Given the description of an element on the screen output the (x, y) to click on. 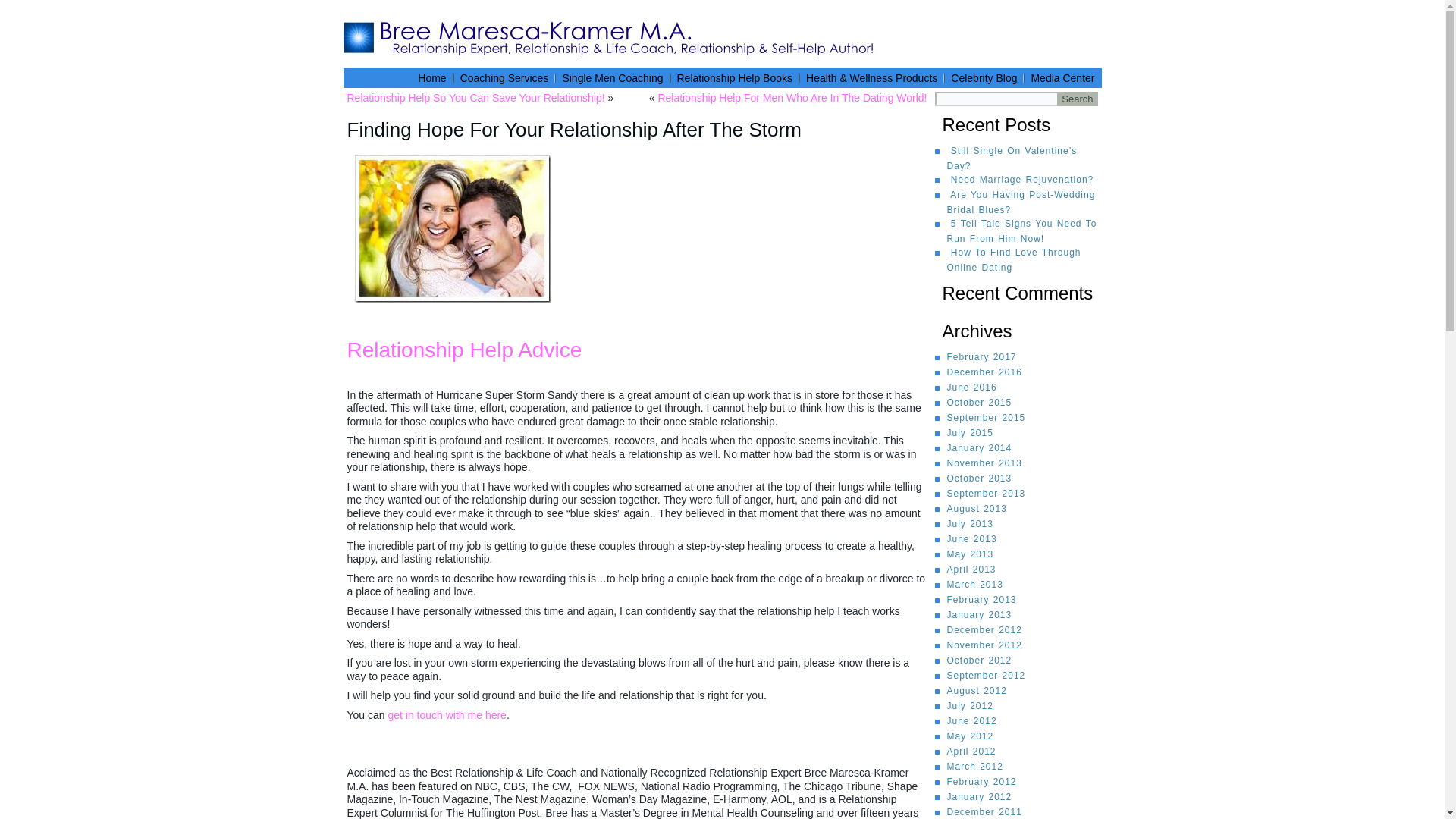
October 2015 (978, 402)
July 2015 (969, 432)
Relationship Help For Men Who Are In The Dating World! (792, 97)
December 2016 (984, 371)
March 2013 (974, 584)
April 2013 (970, 569)
Coaching Services (504, 77)
Home (431, 77)
October 2013 (978, 478)
Relationship Help Books (733, 77)
June 2013 (970, 538)
Search (1077, 98)
Relationship Help Advice (464, 349)
Celebrity Blog (983, 77)
Single Men Coaching (612, 77)
